Given the description of an element on the screen output the (x, y) to click on. 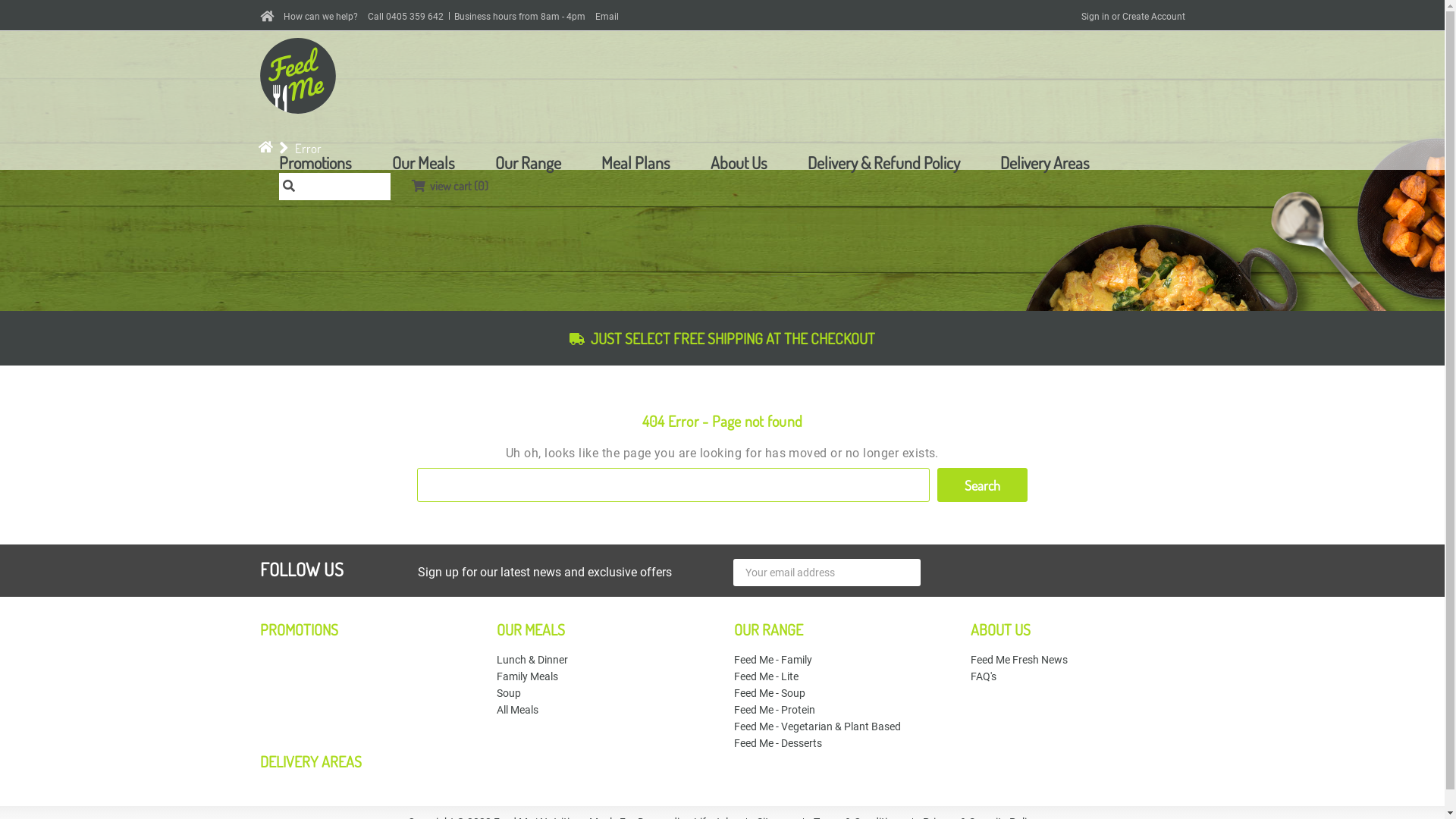
OUR MEALS Element type: text (530, 629)
JUST SELECT FREE SHIPPING AT THE CHECKOUT Element type: text (722, 338)
All Meals Element type: text (517, 709)
FAQ's Element type: text (983, 676)
Feed Me Fresh News Element type: text (1018, 659)
Promotions Element type: text (315, 161)
Feed Me - Vegetarian & Plant Based Element type: text (817, 726)
Our Meals Element type: text (422, 161)
Feed Me - Desserts Element type: text (778, 743)
ABOUT US Element type: text (1000, 629)
Search Element type: text (982, 484)
Family Meals Element type: text (527, 676)
Feed Me - Family Element type: text (773, 659)
Our Range Element type: text (527, 161)
view cart (0) Element type: text (449, 183)
Lunch & Dinner Element type: text (531, 659)
Meal Plans Element type: text (634, 161)
Error Element type: text (307, 148)
Feed Me | Nutritious Meals For Demanding Lifestyles Element type: hover (297, 75)
Feed Me - Lite Element type: text (766, 676)
DELIVERY AREAS Element type: text (309, 761)
OUR RANGE Element type: text (768, 629)
Soup Element type: text (508, 693)
About Us Element type: text (737, 161)
Delivery & Refund Policy Element type: text (882, 161)
Sign in or Create Account Element type: text (1133, 16)
Feed Me - Protein Element type: text (774, 709)
Call 0405 359 642 Element type: text (405, 16)
Delivery Areas Element type: text (1043, 161)
Feed Me - Soup Element type: text (769, 693)
Email Element type: text (606, 16)
PROMOTIONS Element type: text (298, 629)
